Given the description of an element on the screen output the (x, y) to click on. 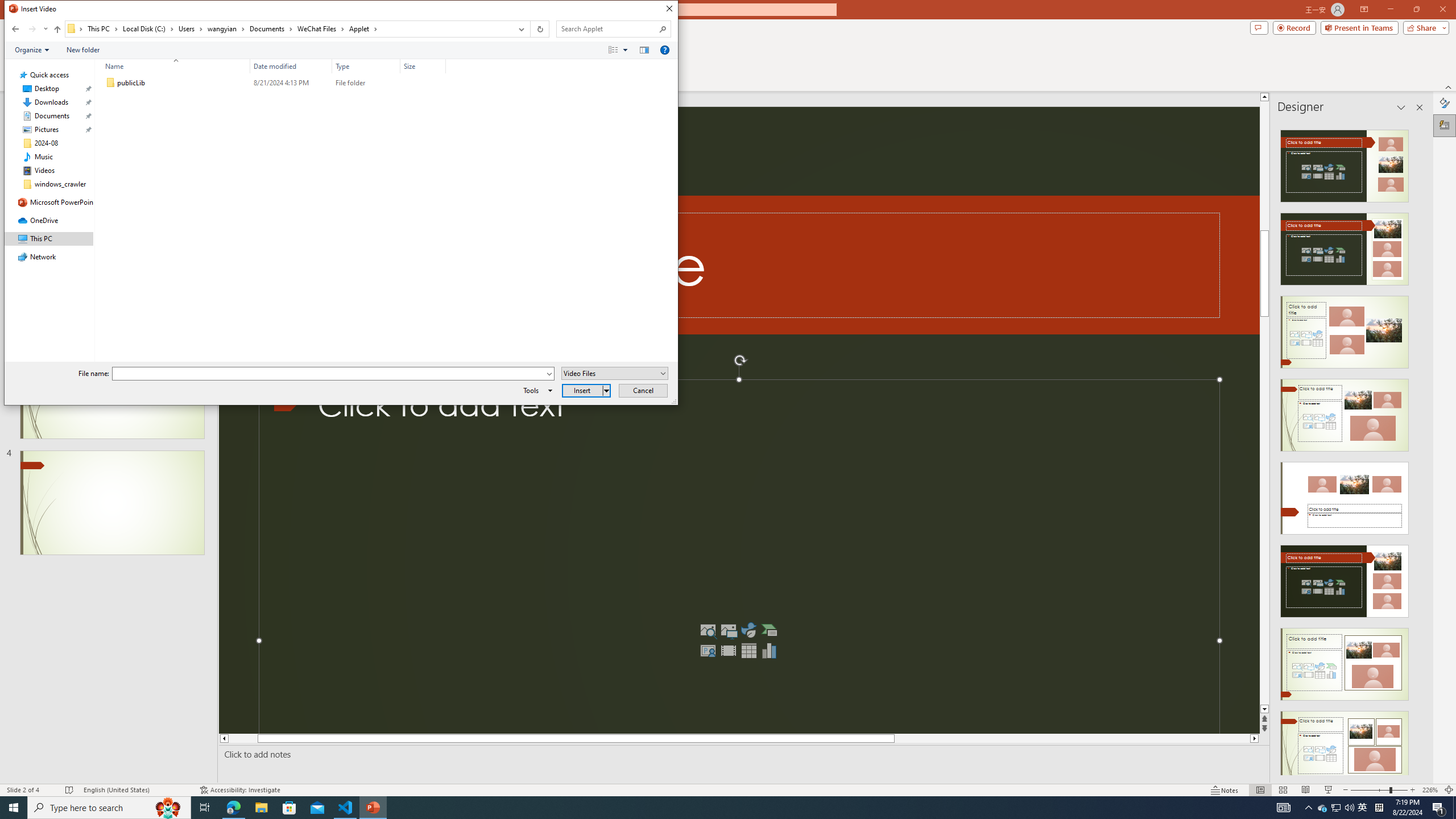
Files of type: (615, 373)
New folder (82, 49)
Name (183, 82)
Name (173, 65)
Type (365, 65)
Address band toolbar (529, 28)
